Given the description of an element on the screen output the (x, y) to click on. 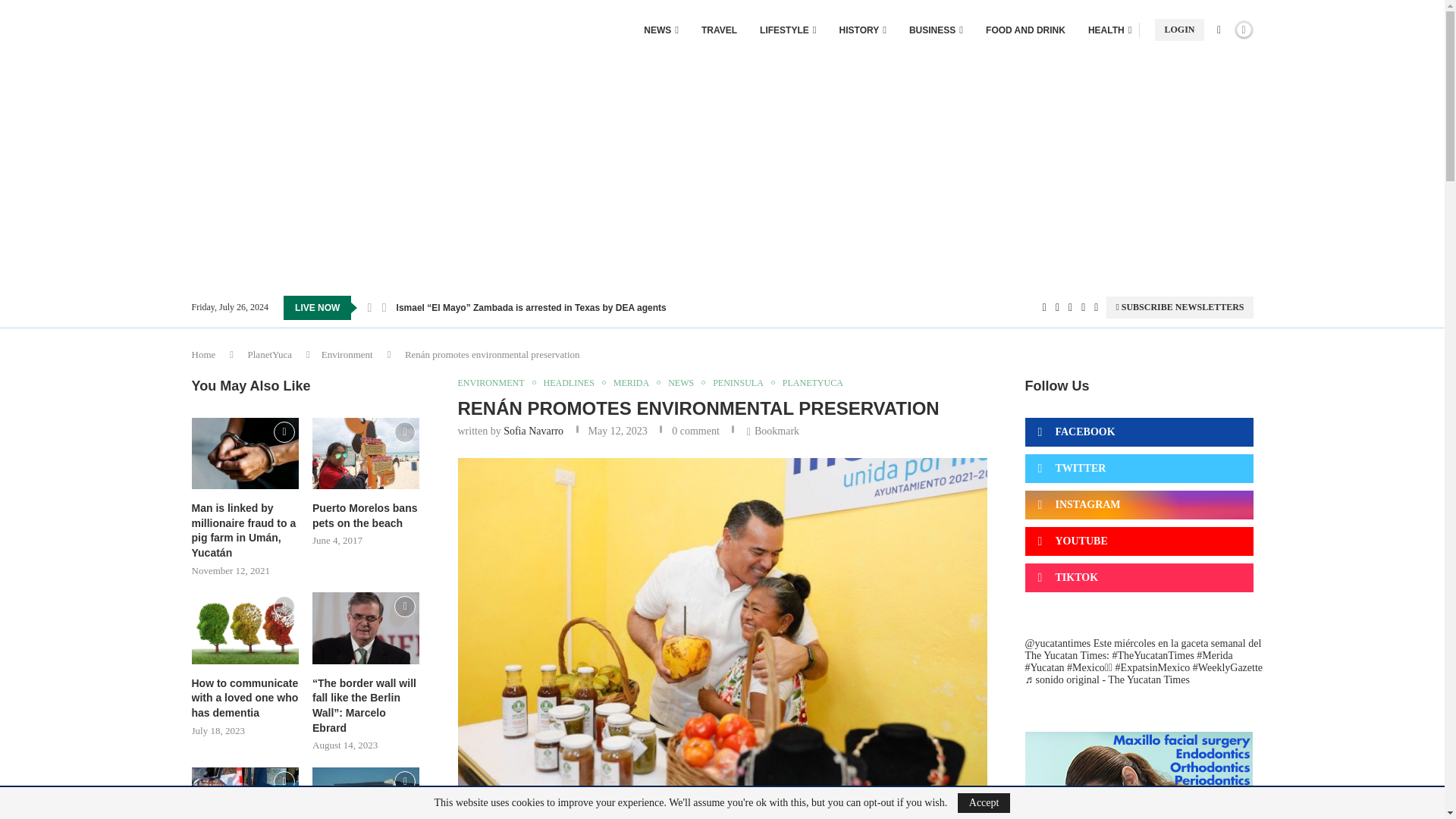
LIFESTYLE (787, 30)
